Given the description of an element on the screen output the (x, y) to click on. 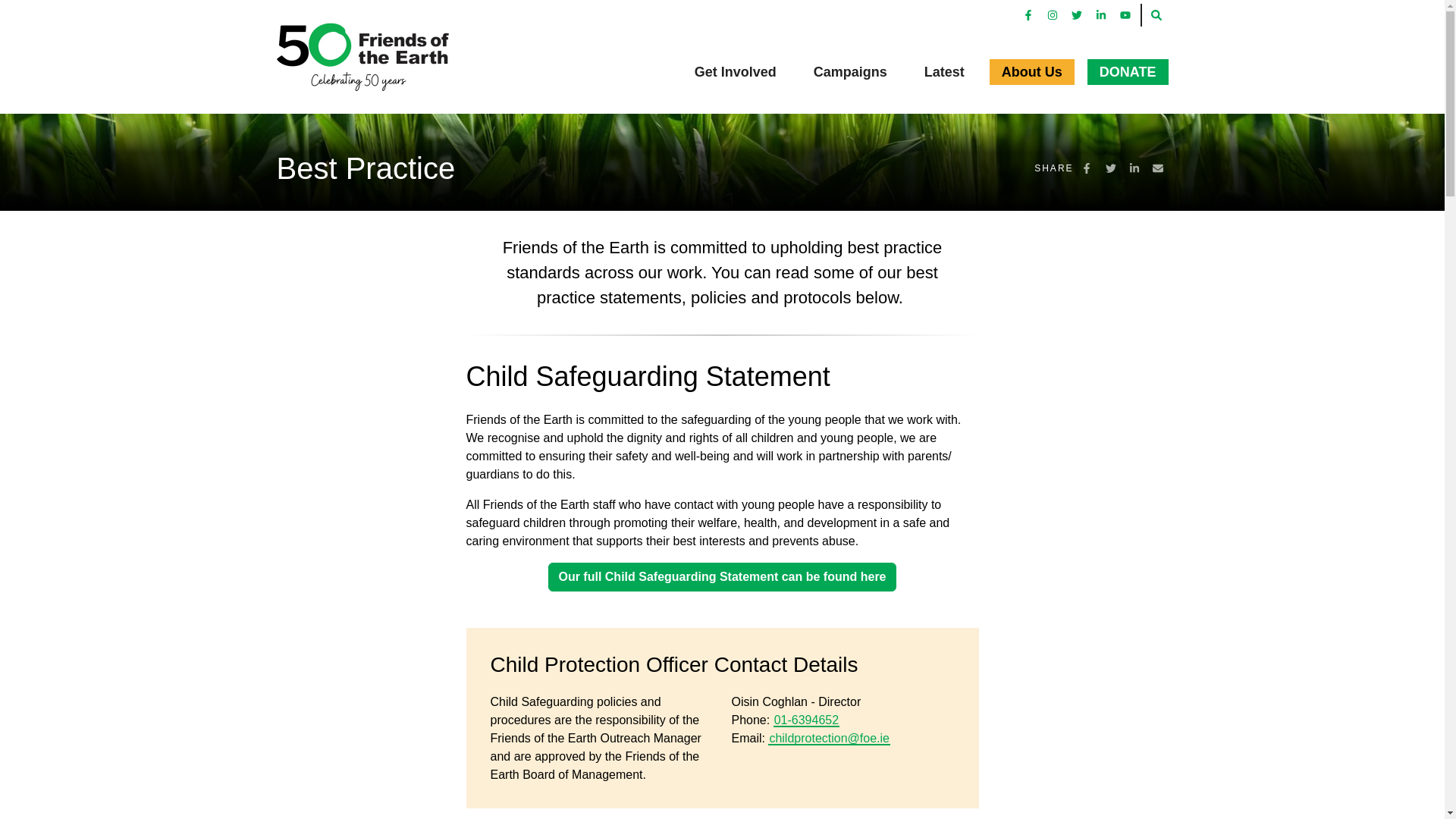
Get Involved (735, 71)
Friends of the Earth (370, 56)
Campaigns (850, 71)
